Given the description of an element on the screen output the (x, y) to click on. 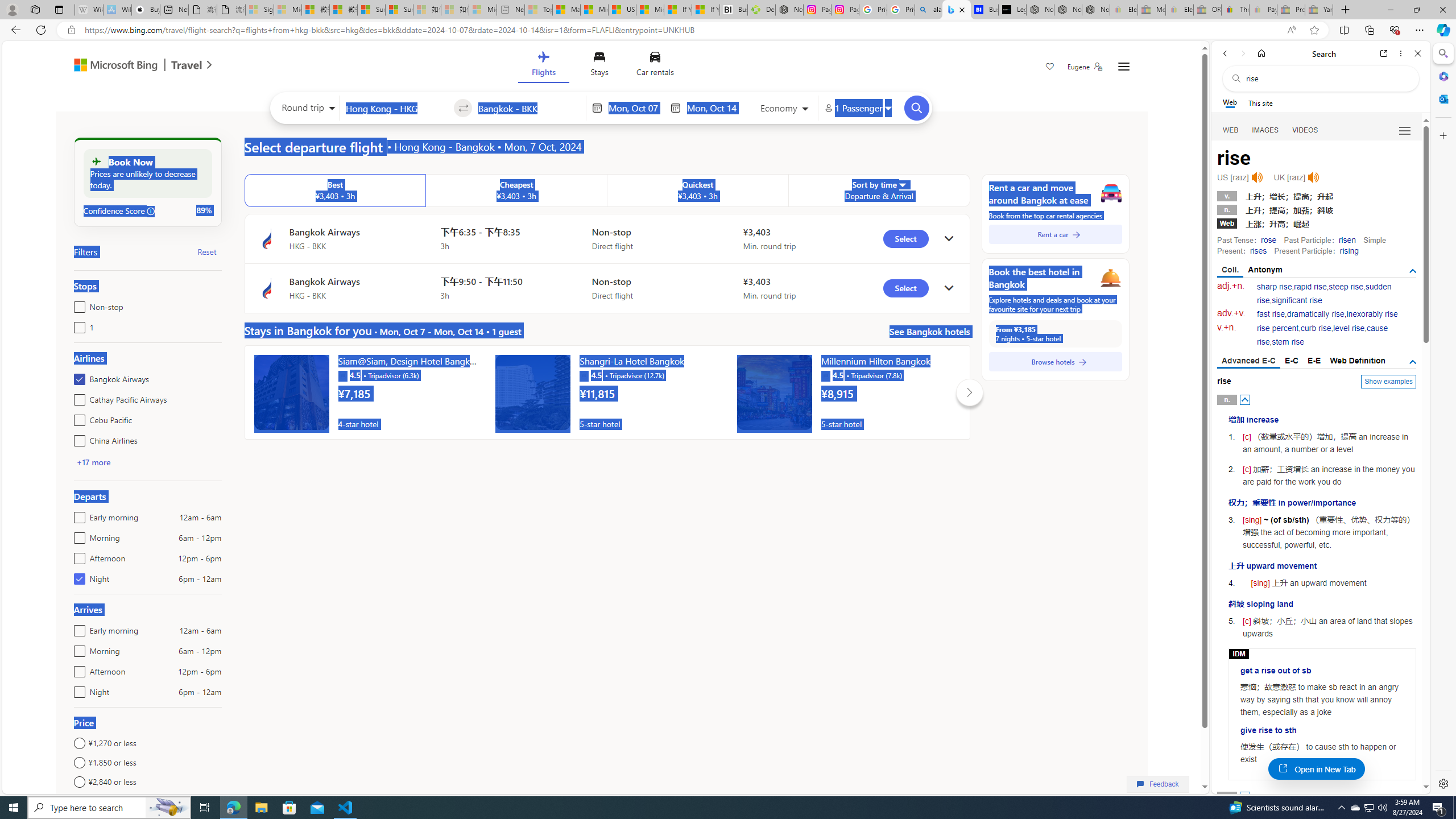
Side bar (1443, 418)
click to get details (948, 288)
curb rise (1315, 328)
Stays (598, 65)
Search the web (1326, 78)
Class: msft-bing-logo msft-bing-logo-desktop (112, 64)
IMAGES (1265, 130)
+17 more (92, 461)
Browse hotels (1055, 361)
